Given the description of an element on the screen output the (x, y) to click on. 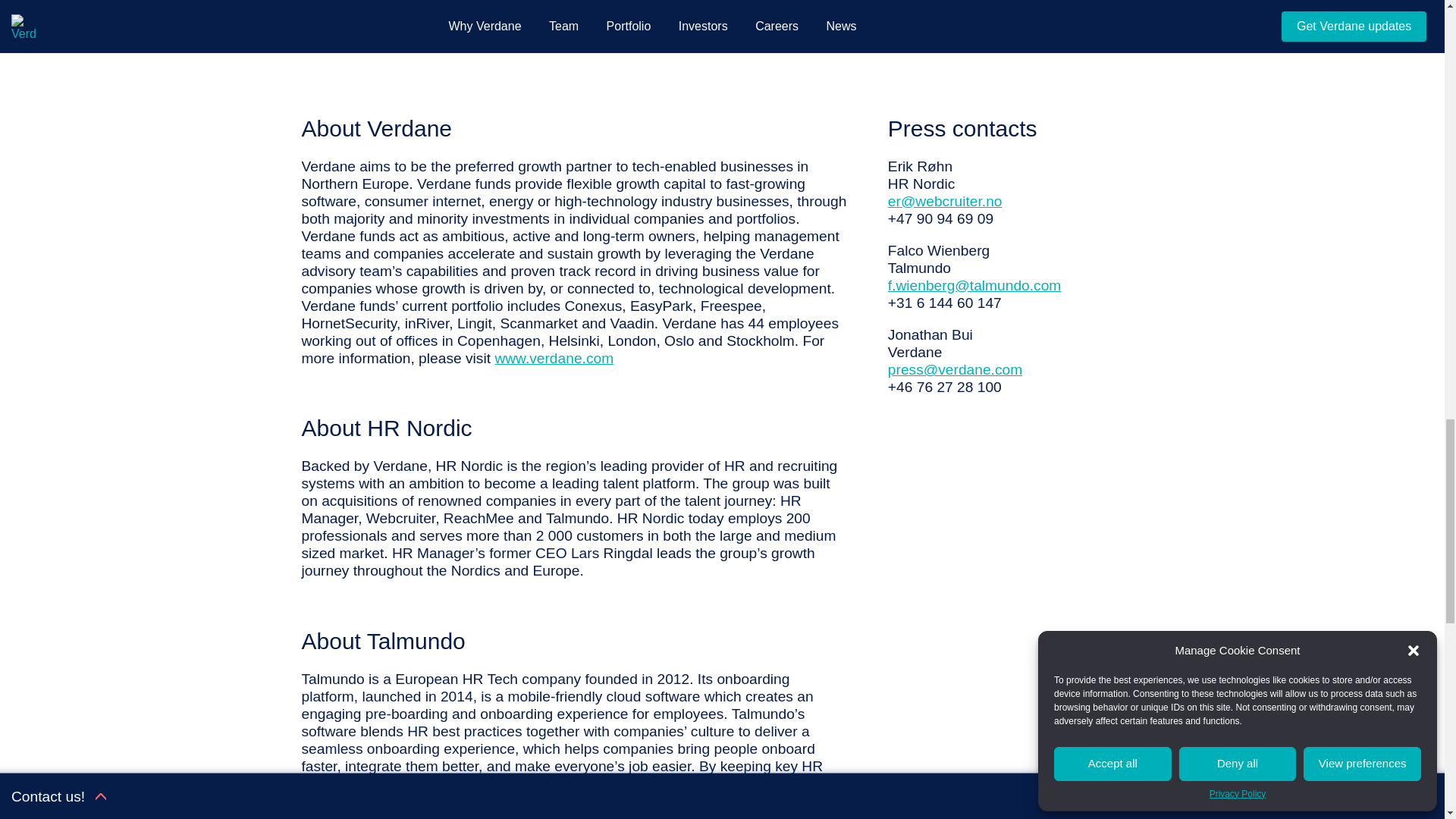
www.verdane.com (553, 358)
